Given the description of an element on the screen output the (x, y) to click on. 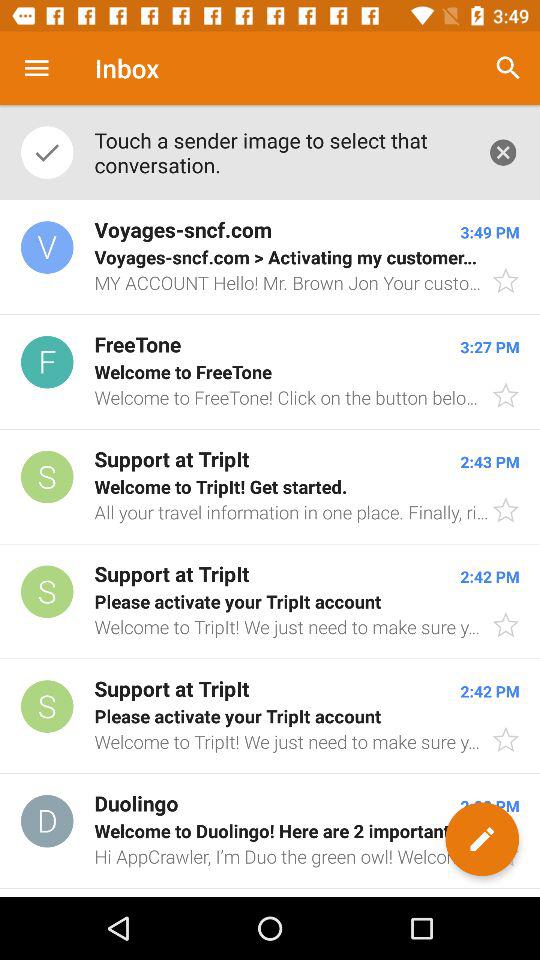
turn off touch a sender icon (280, 152)
